Given the description of an element on the screen output the (x, y) to click on. 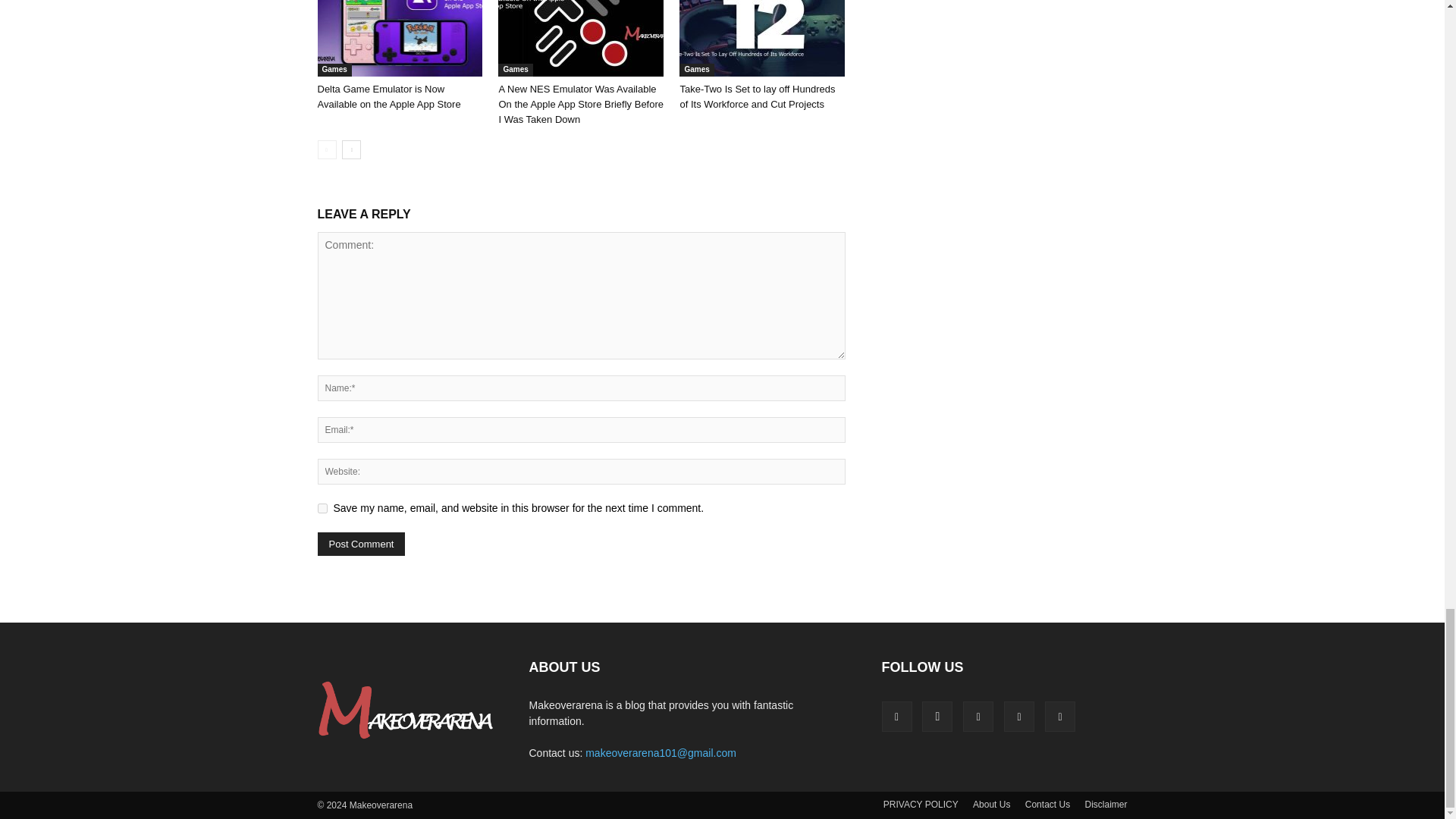
yes (321, 508)
Post Comment (360, 544)
